Given the description of an element on the screen output the (x, y) to click on. 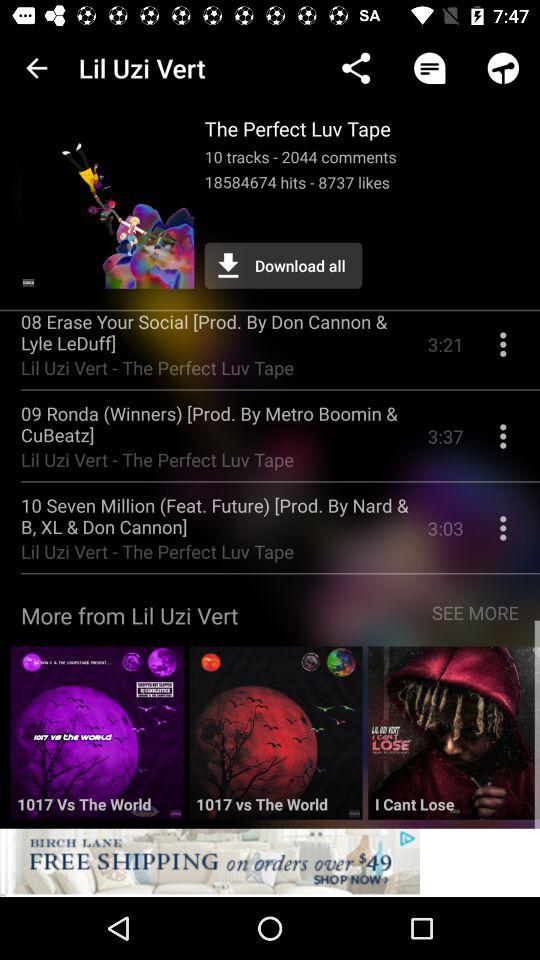
open options menu (503, 351)
